Given the description of an element on the screen output the (x, y) to click on. 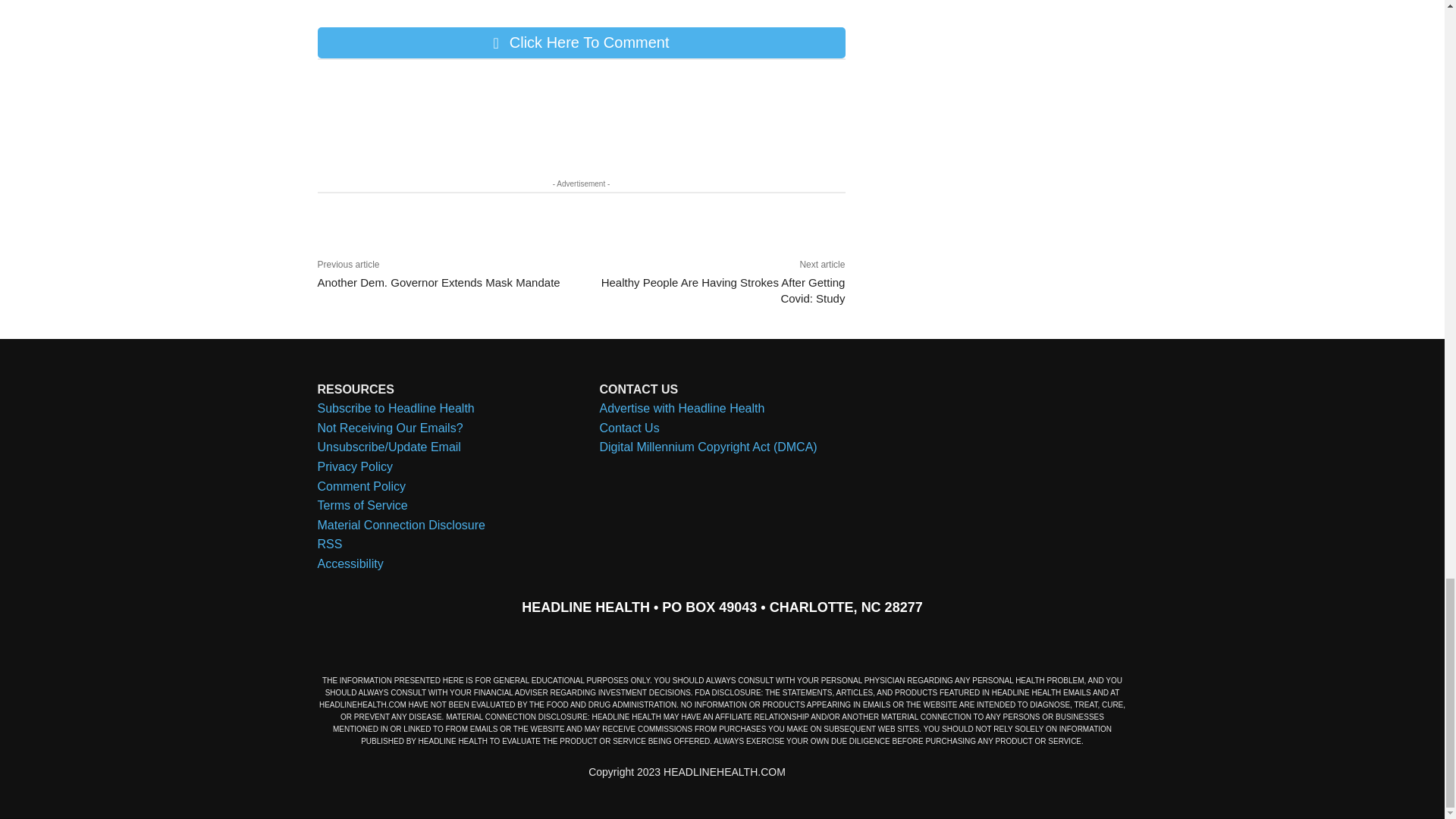
Click Here To Comment (580, 42)
